Given the description of an element on the screen output the (x, y) to click on. 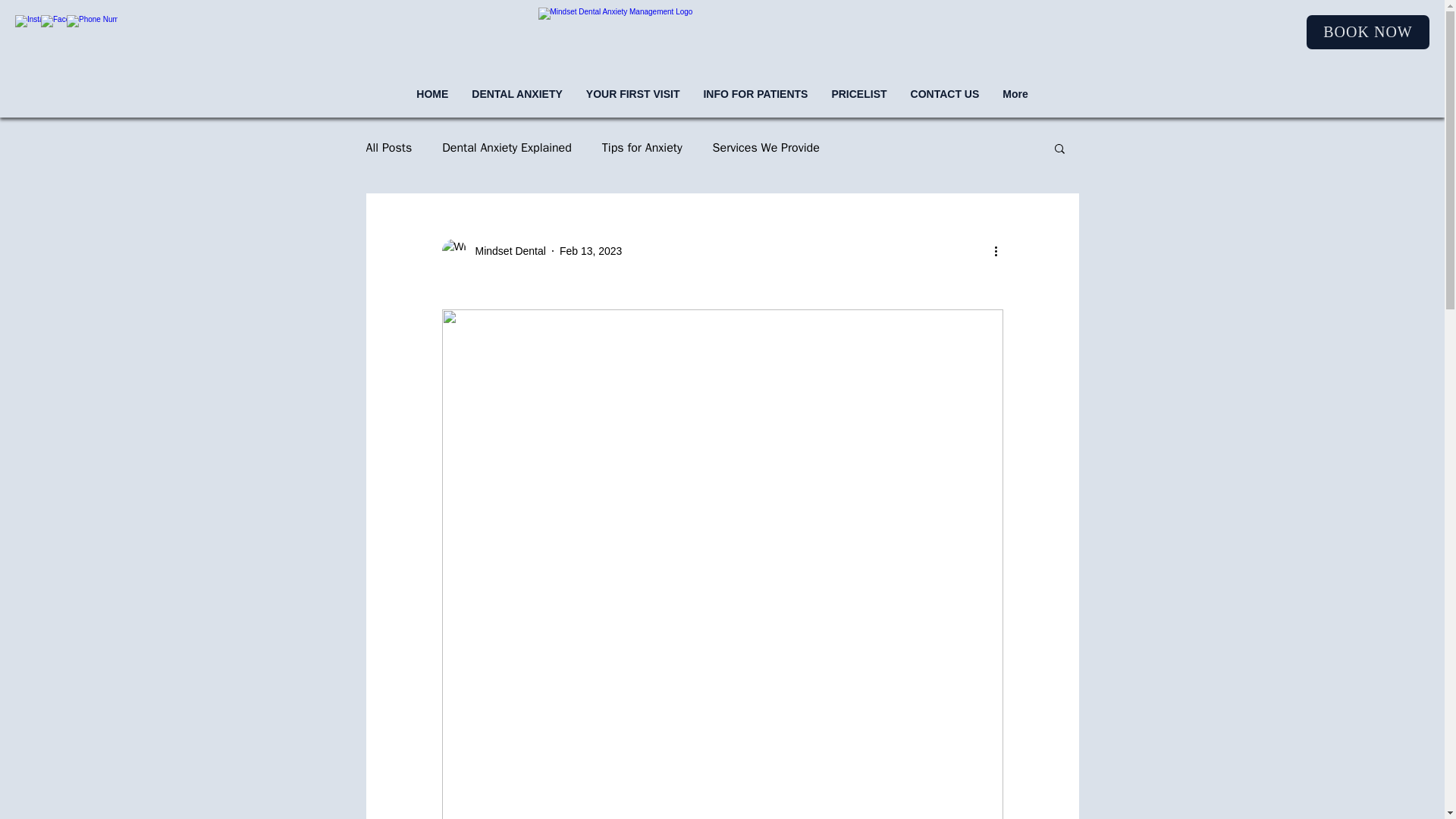
Tips for Anxiety (642, 147)
Services We Provide (766, 147)
Home (707, 43)
DENTAL ANXIETY (516, 101)
PRICELIST (858, 101)
HOME (432, 101)
YOUR FIRST VISIT (632, 101)
CONTACT US (944, 101)
Mindset Dental (492, 250)
BOOK NOW (1367, 32)
Feb 13, 2023 (591, 250)
All Posts (388, 147)
Mindset Dental (504, 250)
Dental Anxiety Explained (507, 147)
INFO FOR PATIENTS (754, 101)
